Given the description of an element on the screen output the (x, y) to click on. 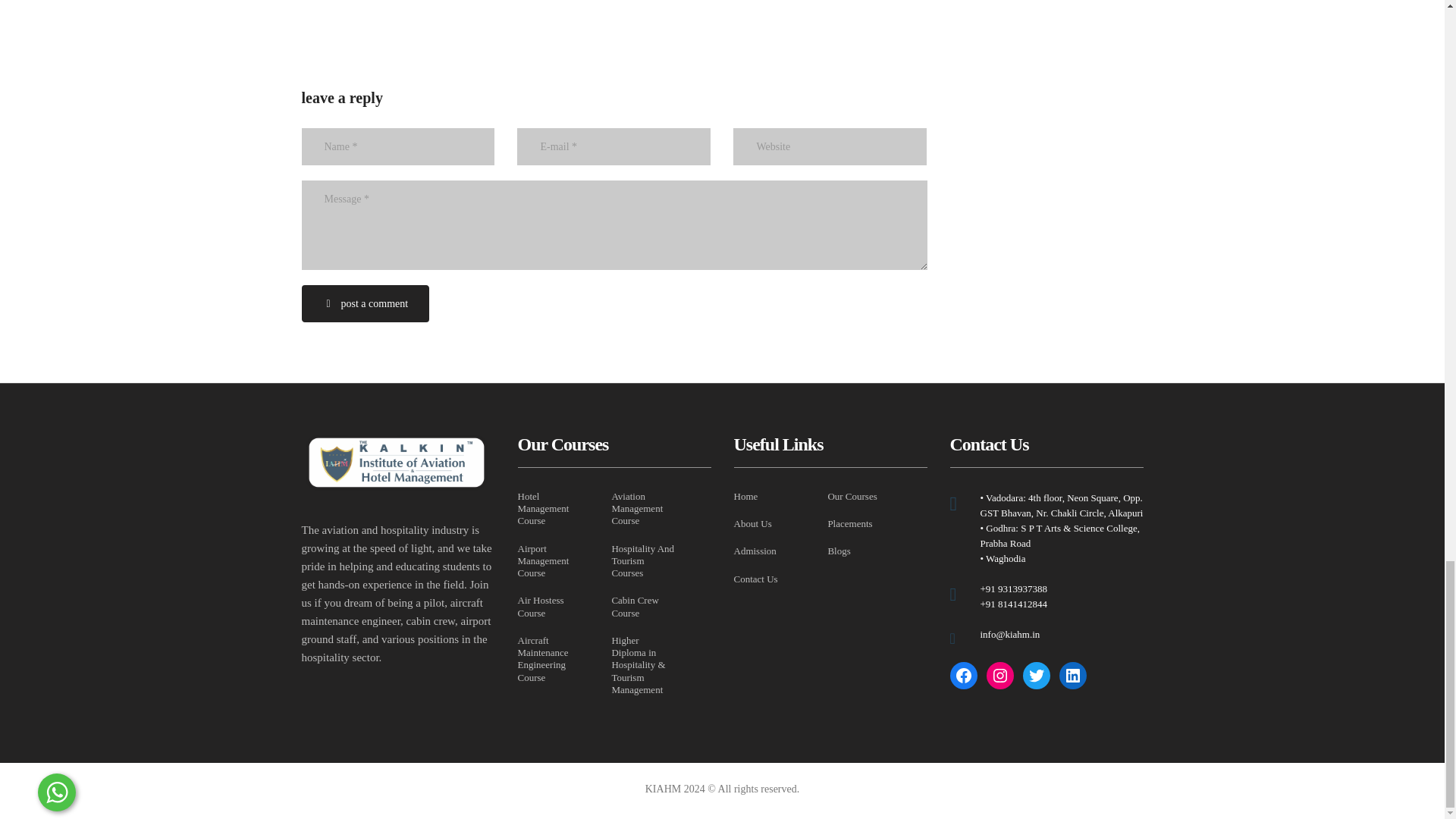
Aircraft Maintenance Engineering Course (548, 658)
Hotel Management Course (548, 508)
Admission (754, 551)
About Us (752, 523)
Cabin Crew Course (643, 606)
Home (745, 496)
Aviation Management Course (643, 508)
Our Courses (851, 496)
post a comment (365, 303)
Airport Management Course (548, 560)
